Given the description of an element on the screen output the (x, y) to click on. 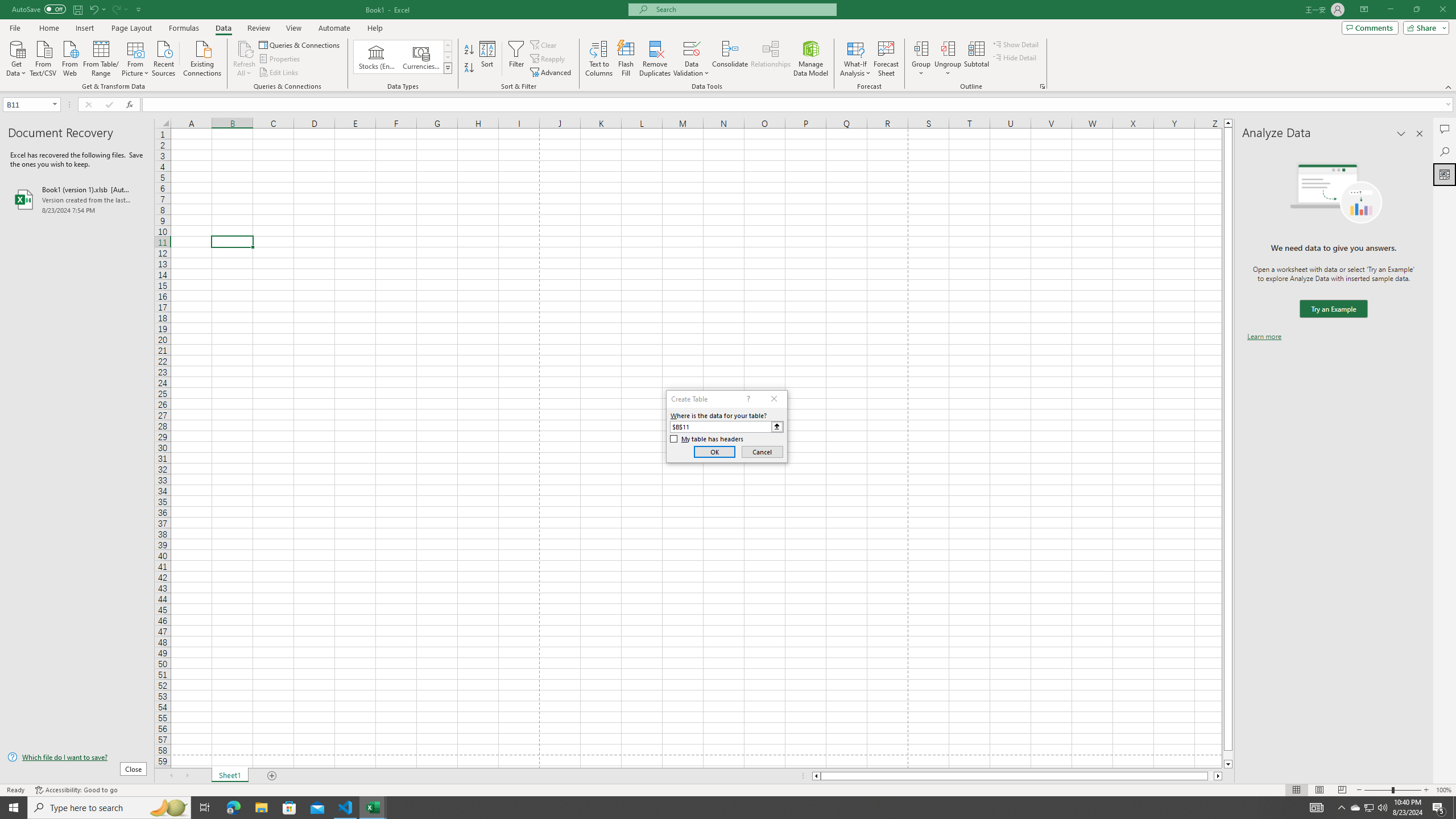
Restore Down (1416, 9)
Relationships (770, 58)
Stocks (English) (375, 56)
Book1 (version 1).xlsb  [AutoRecovered] (77, 199)
Data Validation... (691, 58)
Open (54, 104)
Help (374, 28)
Remove Duplicates (654, 58)
Undo (92, 9)
From Text/CSV (43, 57)
Add Sheet (272, 775)
Name Box (27, 104)
Sort... (487, 58)
Page right (1211, 775)
Ungroup... (947, 58)
